Given the description of an element on the screen output the (x, y) to click on. 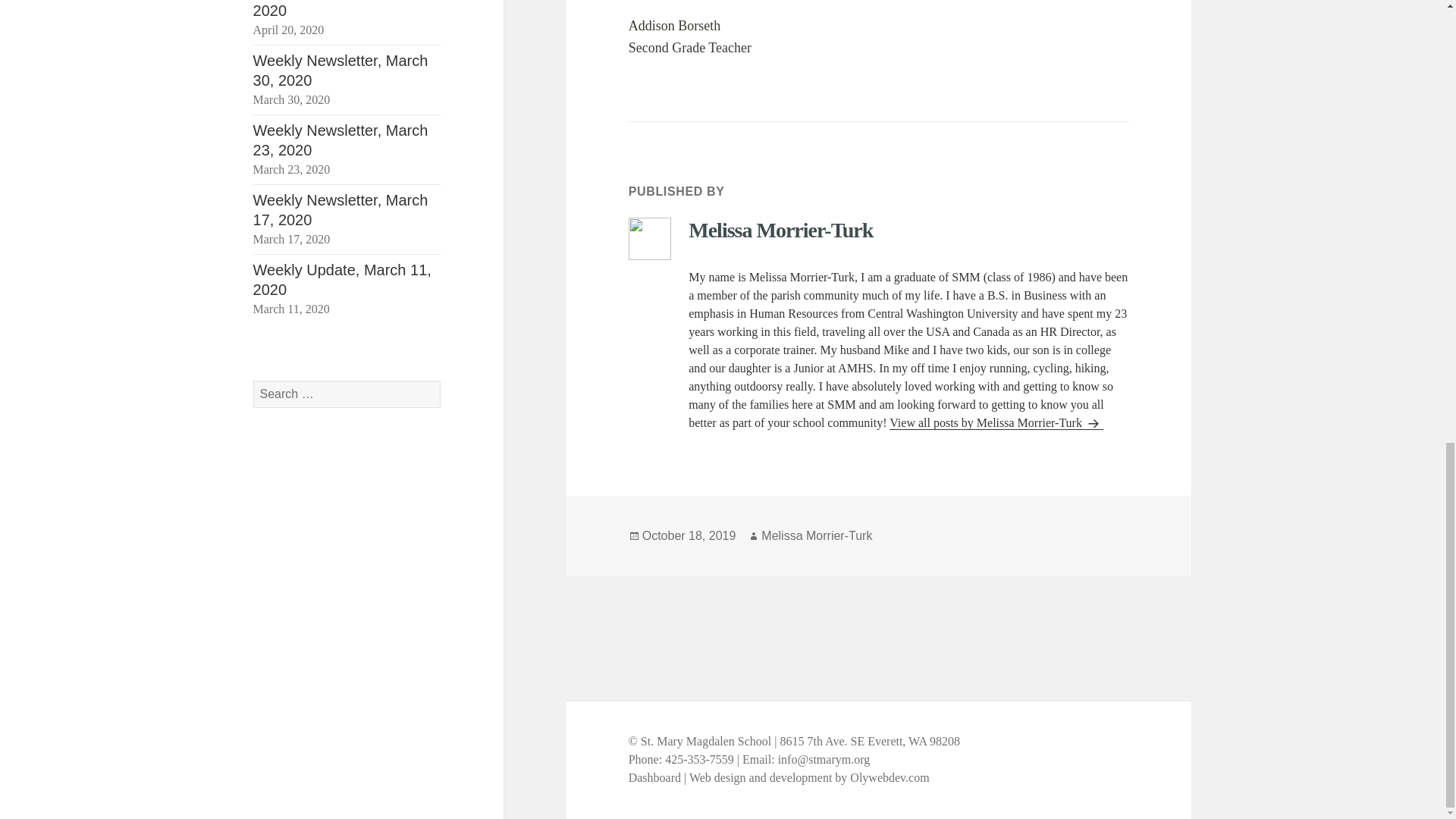
Weekly Newsletter, March 17, 2020 (340, 209)
Dashboard (654, 777)
October 18, 2019 (689, 535)
Melissa Morrier-Turk (816, 535)
Olywebdev.com (889, 777)
View all posts by Melissa Morrier-Turk (996, 422)
Weekly Newsletter, March 23, 2020 (340, 140)
Weekly Newsletter, April 20, 2020 (347, 9)
Weekly Newsletter, March 30, 2020 (340, 70)
Weekly Update, March 11, 2020 (341, 279)
